Given the description of an element on the screen output the (x, y) to click on. 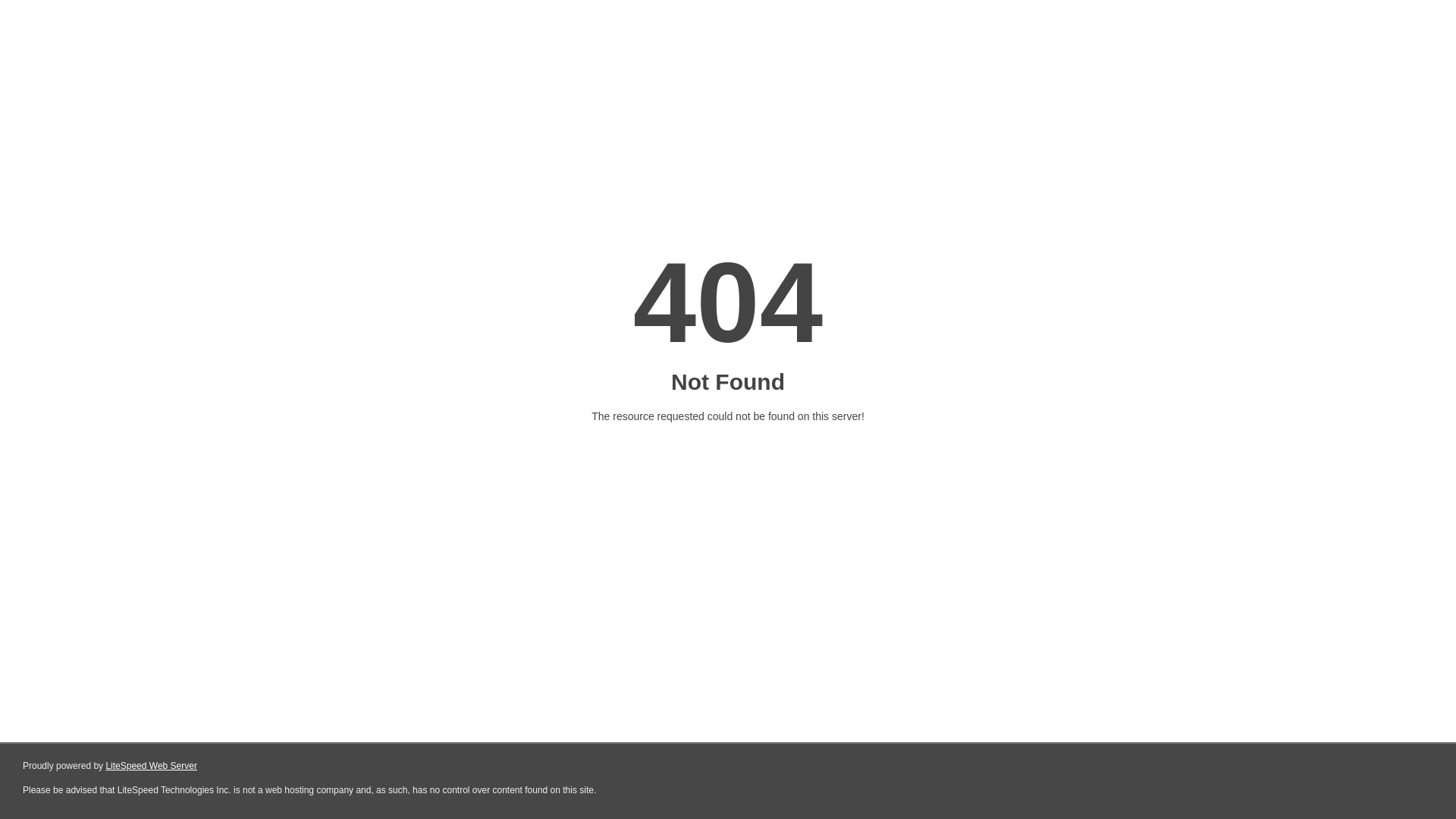
LiteSpeed Web Server Element type: text (151, 765)
